Given the description of an element on the screen output the (x, y) to click on. 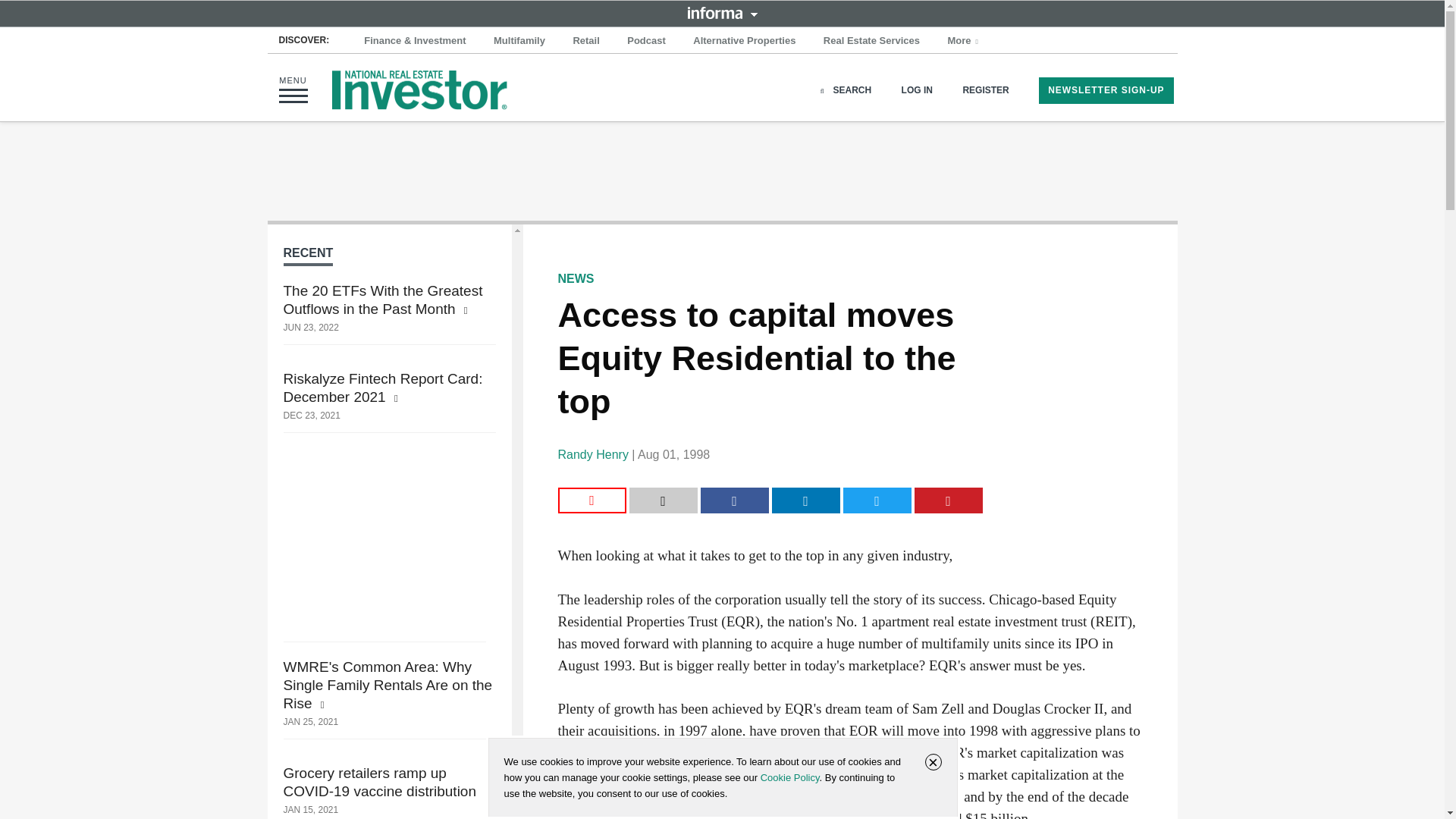
Alternative Properties (744, 41)
Real Estate Services (871, 41)
Retail (585, 41)
Multifamily (519, 41)
Cookie Policy (789, 777)
More (964, 41)
INFORMA (722, 12)
Podcast (646, 41)
